Given the description of an element on the screen output the (x, y) to click on. 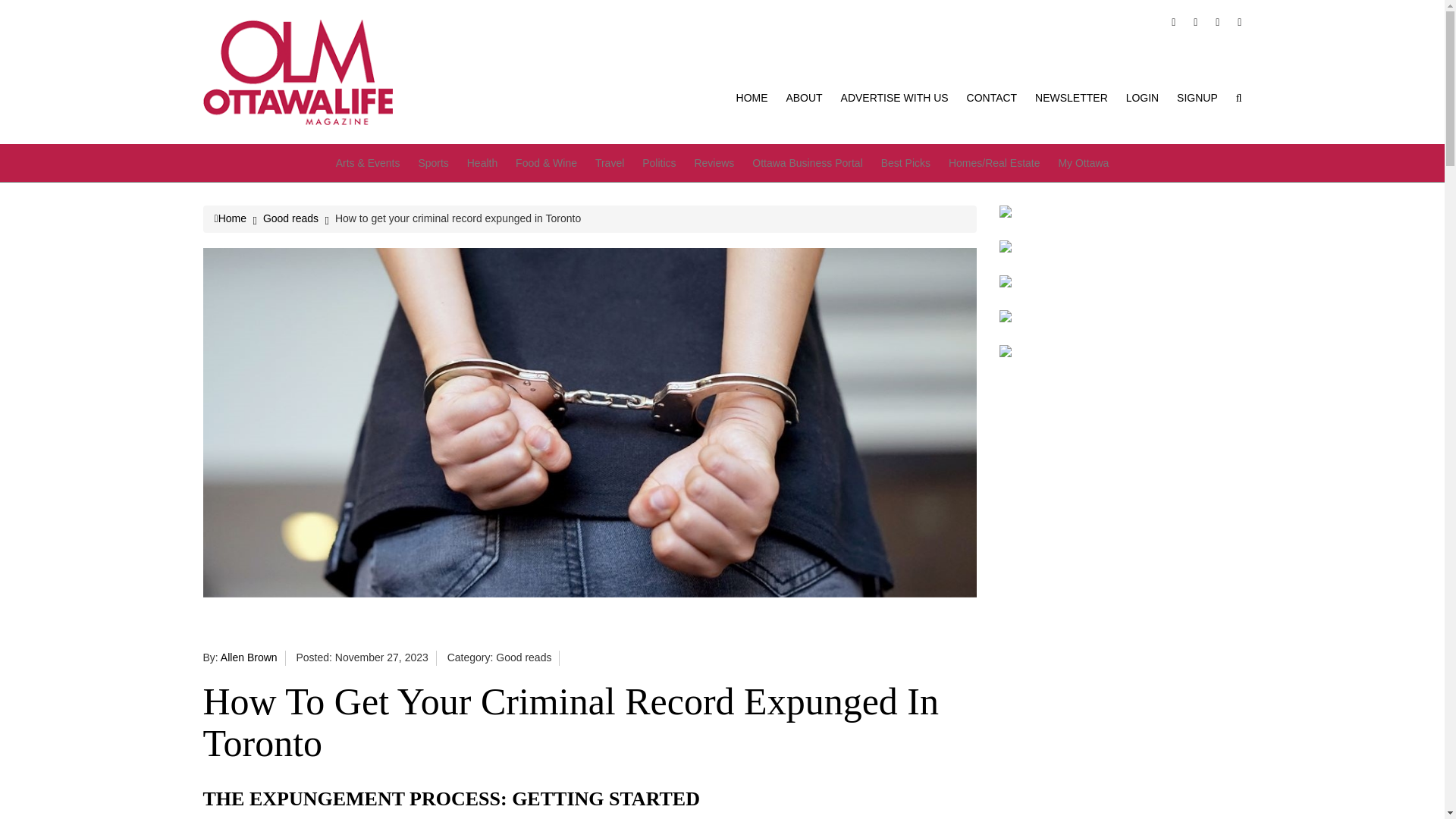
NEWSLETTER (1071, 97)
Ottawa Business Portal (807, 162)
My Ottawa (1083, 162)
ABOUT (804, 97)
CONTACT (991, 97)
Good reads (290, 218)
Reviews (713, 162)
Home (230, 218)
Allen Brown (249, 657)
Best Picks (905, 162)
